Given the description of an element on the screen output the (x, y) to click on. 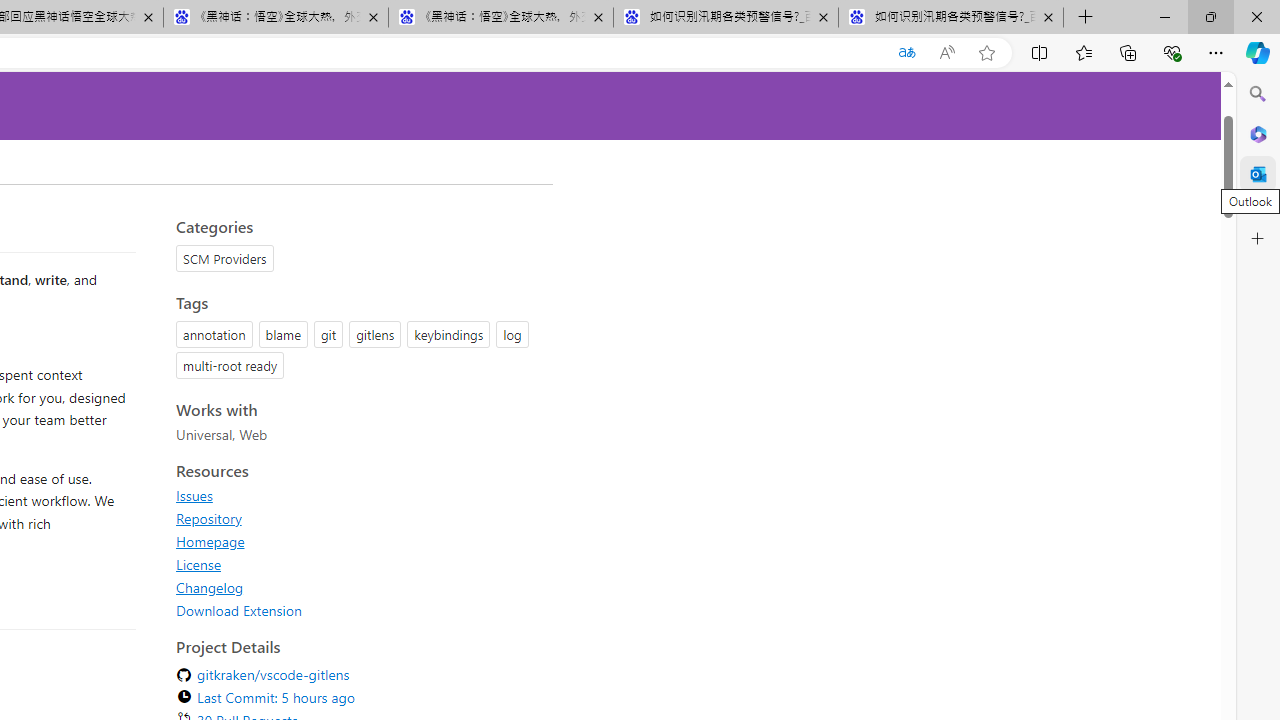
License (358, 564)
License (198, 564)
Download Extension (358, 610)
